Given the description of an element on the screen output the (x, y) to click on. 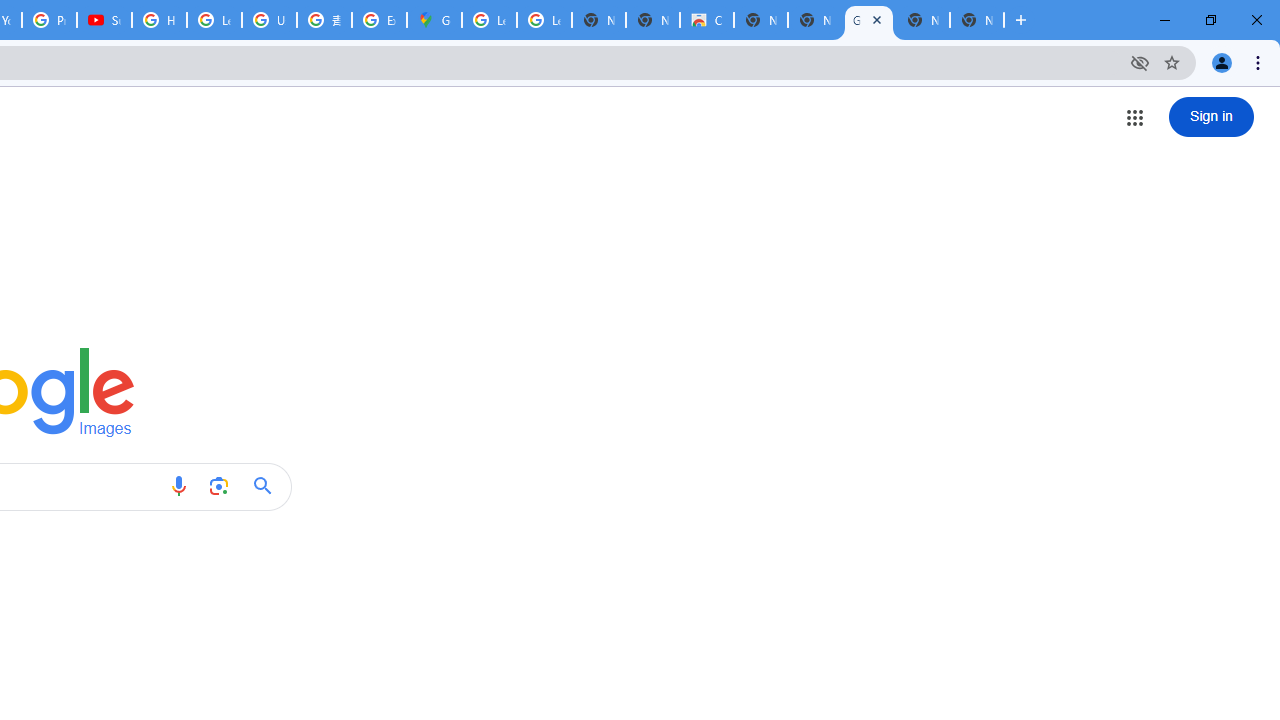
Explore new street-level details - Google Maps Help (379, 20)
Google Maps (434, 20)
Google Images (868, 20)
New Tab (976, 20)
How Chrome protects your passwords - Google Chrome Help (158, 20)
